Given the description of an element on the screen output the (x, y) to click on. 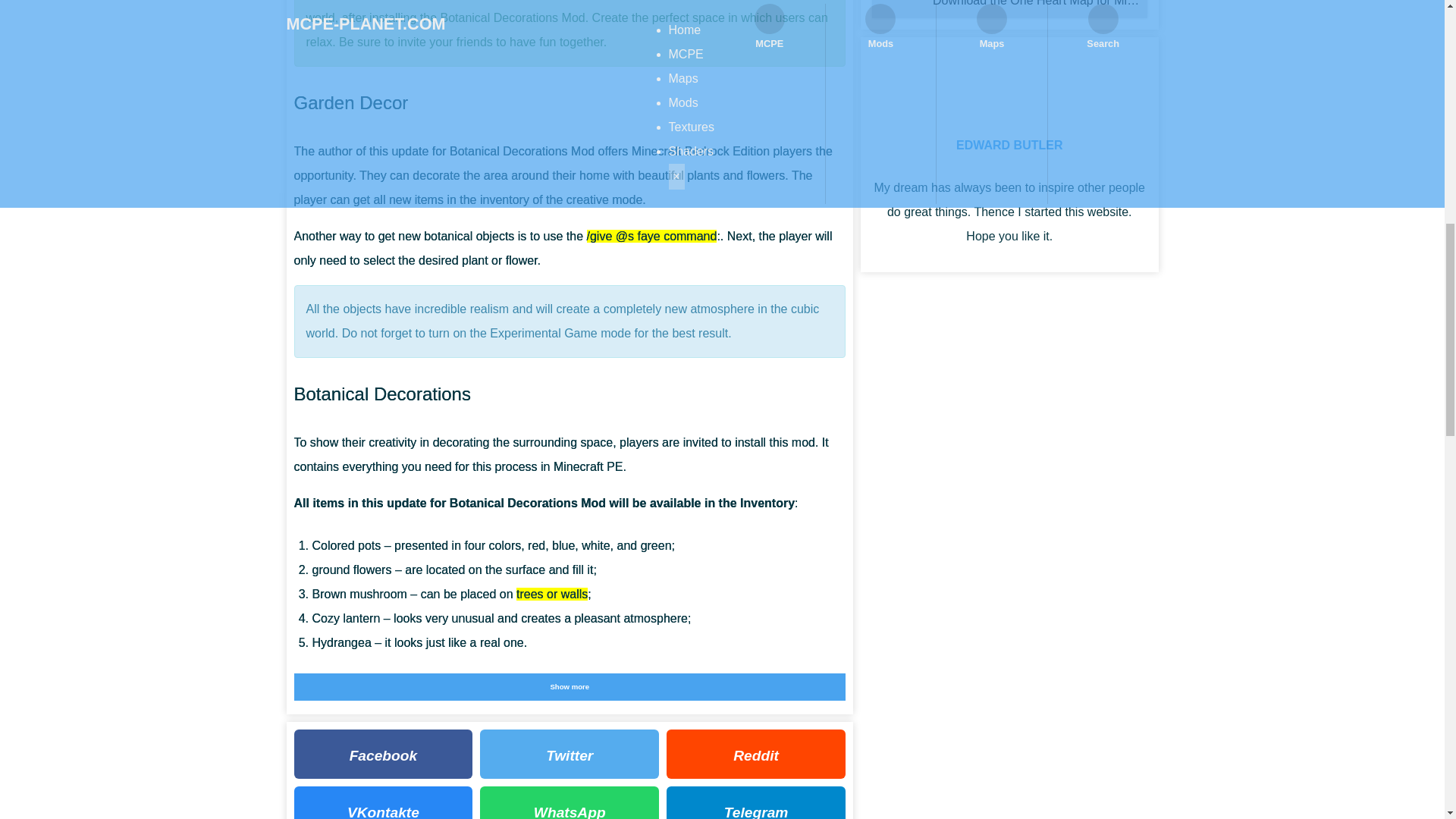
VKontakte (383, 802)
One Heart Map for Minecraft PE (1009, 9)
Facebook (383, 753)
Reddit (755, 753)
Telegram (755, 802)
Twitter (569, 753)
Edward Butler (1009, 144)
WhatsApp (569, 802)
Show more (569, 687)
Show more (569, 687)
EDWARD BUTLER (1009, 144)
